Given the description of an element on the screen output the (x, y) to click on. 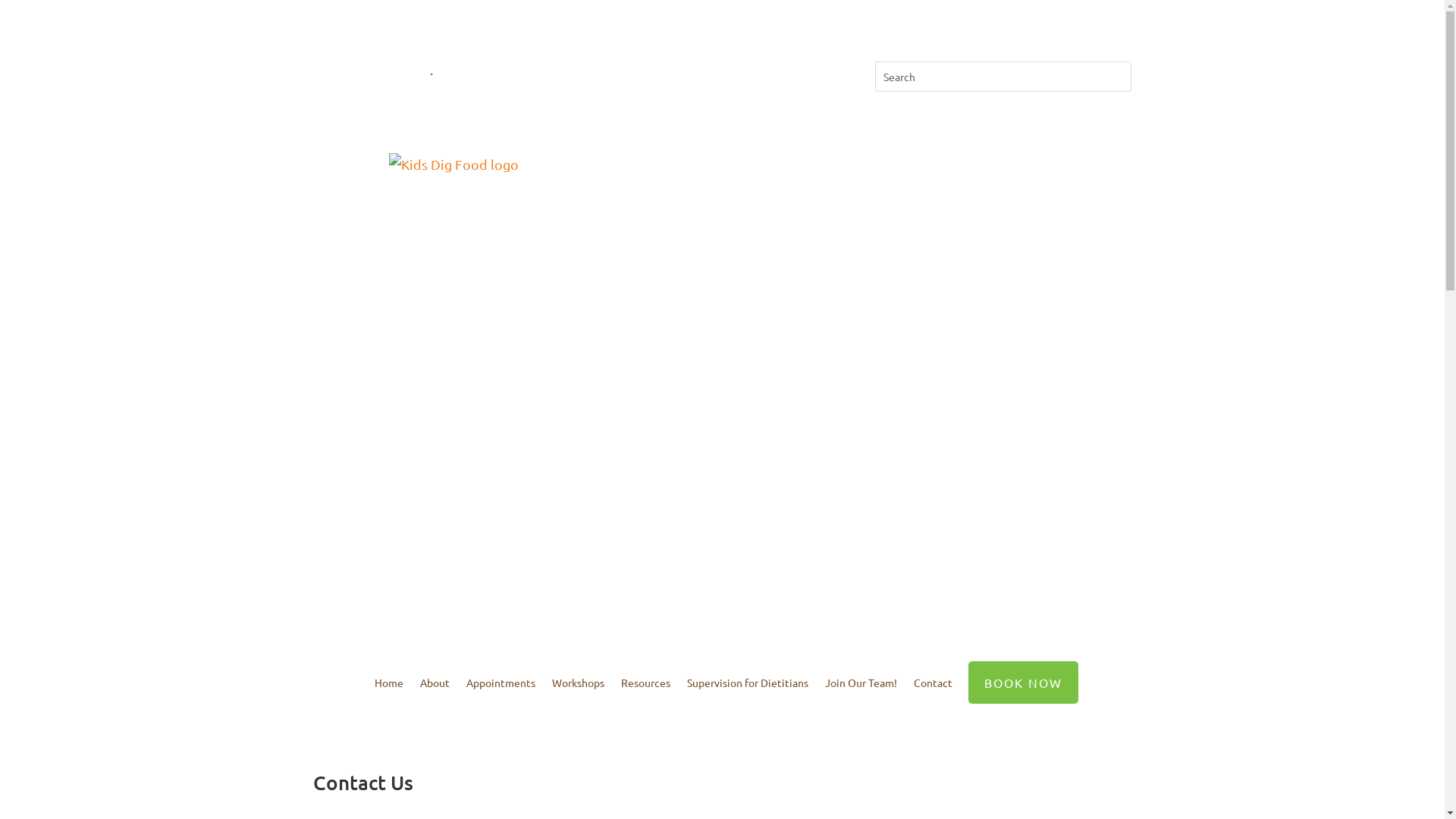
Search Element type: text (23, 14)
Resources Element type: text (645, 682)
Follow on Facebook Element type: hover (706, 73)
Appointments Element type: text (500, 682)
Call 1300 971 609 Element type: text (366, 72)
Contact Element type: text (932, 682)
Email us Element type: text (466, 72)
Supervision for Dietitians Element type: text (747, 682)
About Element type: text (434, 682)
Home Element type: text (388, 682)
Follow on Instagram Element type: hover (736, 73)
Workshops Element type: text (578, 682)
BOOK NOW Element type: text (1023, 682)
Join Our Team! Element type: text (861, 682)
